Given the description of an element on the screen output the (x, y) to click on. 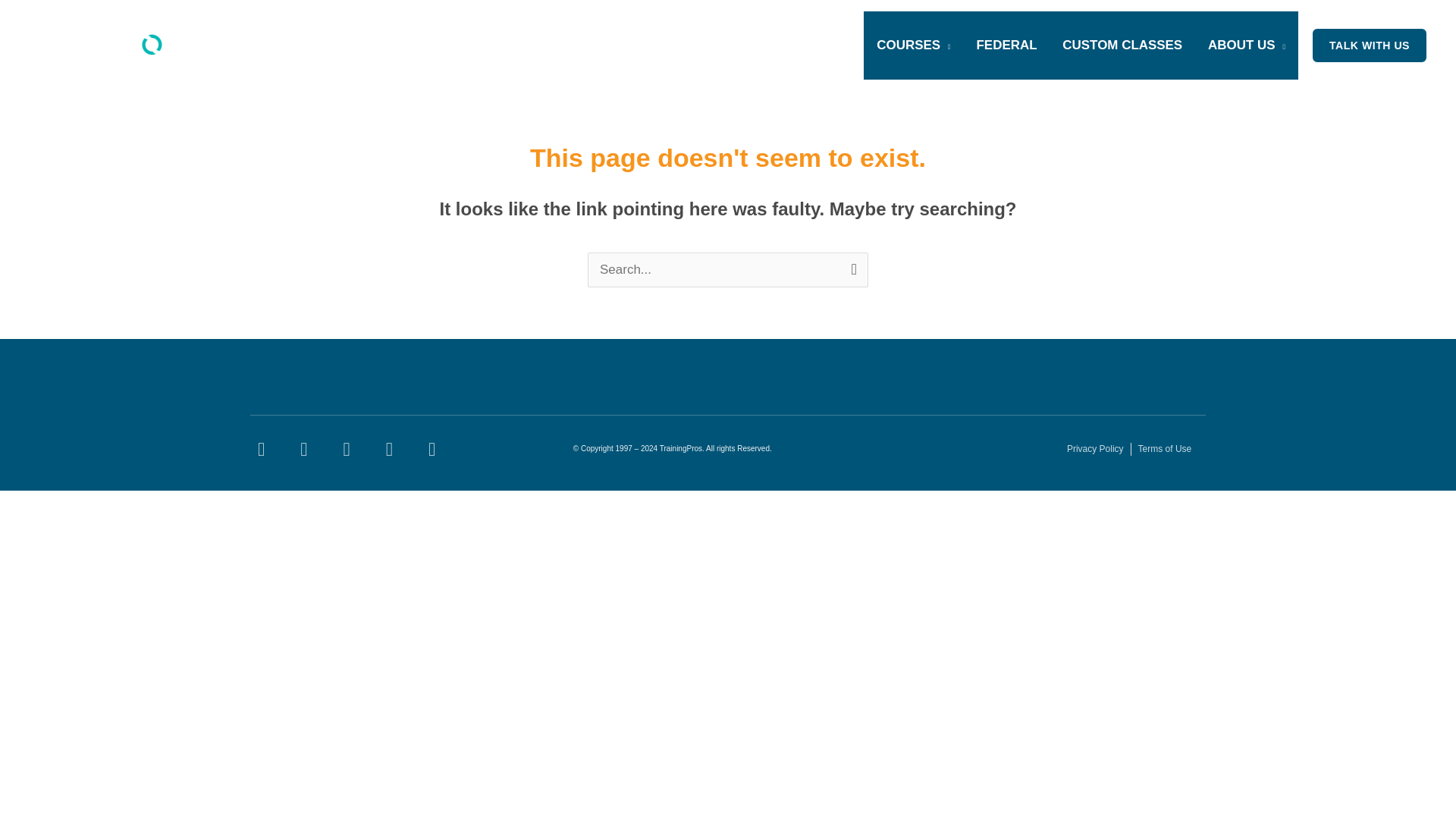
TALK WITH US (1369, 45)
COURSES (912, 45)
Privacy Policy (1095, 449)
Terms of Use (1165, 449)
FEDERAL (1006, 45)
Avaya Training Courses (912, 45)
CUSTOM CLASSES (1122, 45)
ABOUT US (1246, 45)
